Given the description of an element on the screen output the (x, y) to click on. 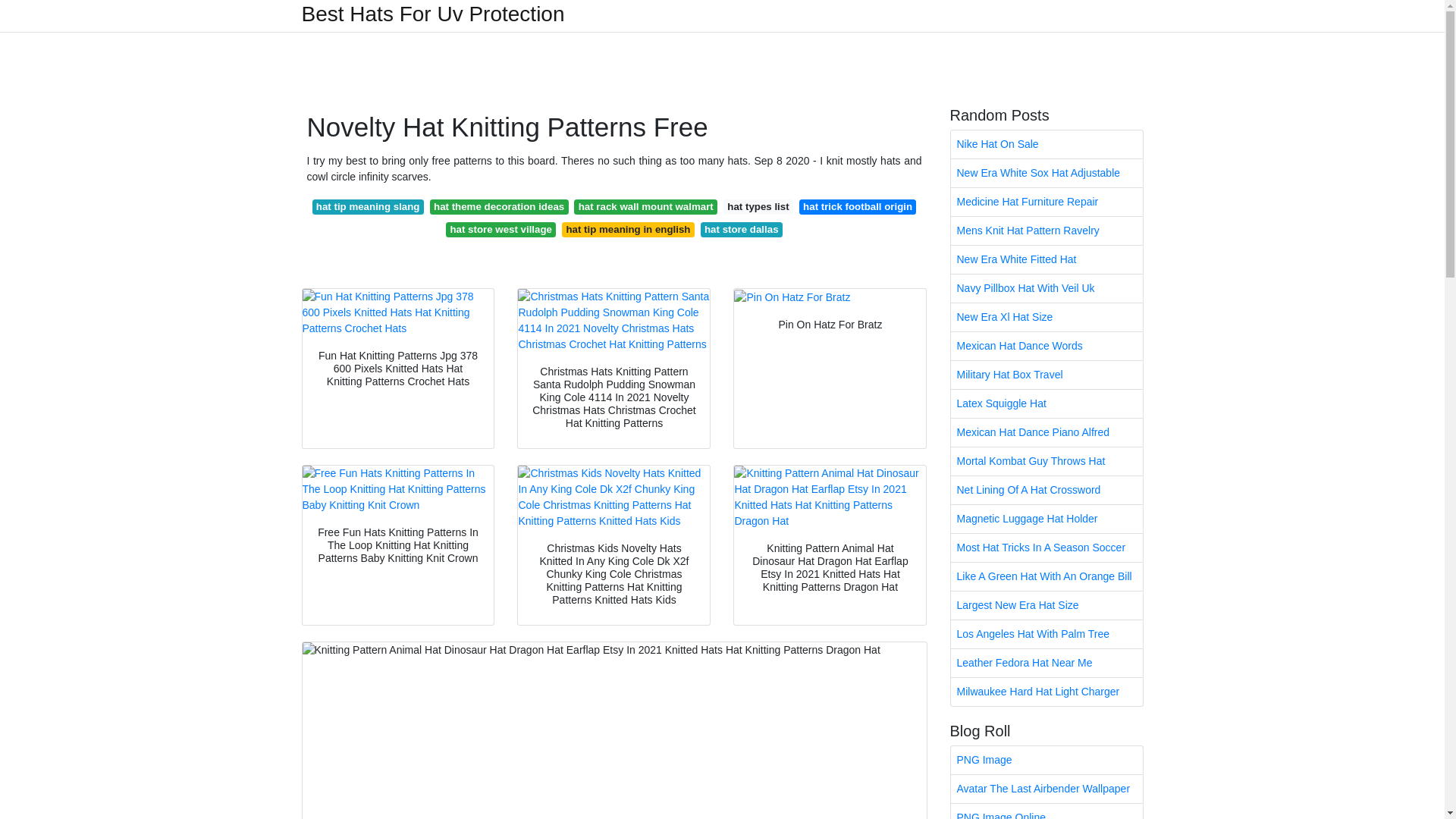
hat store dallas (741, 229)
hat store west village (500, 229)
Military Hat Box Travel (1046, 375)
New Era White Fitted Hat (1046, 259)
Mens Knit Hat Pattern Ravelry (1046, 230)
Navy Pillbox Hat With Veil Uk (1046, 288)
hat tip meaning slang (368, 206)
Latex Squiggle Hat (1046, 403)
Nike Hat On Sale (1046, 144)
Best Hats For Uv Protection (432, 13)
